Given the description of an element on the screen output the (x, y) to click on. 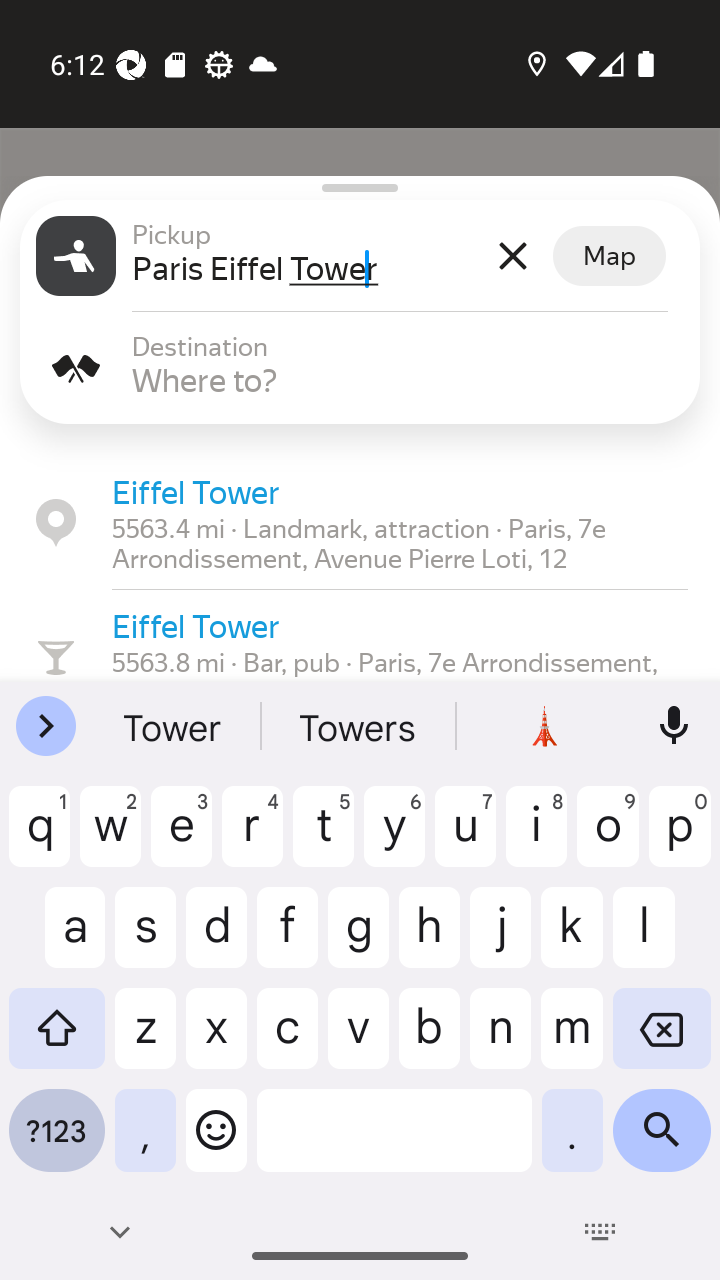
Map (609, 256)
Clear text box (512, 255)
Paris Eiffel Tower (307, 268)
Destination Destination Where to? (359, 367)
Where to? (407, 380)
